Given the description of an element on the screen output the (x, y) to click on. 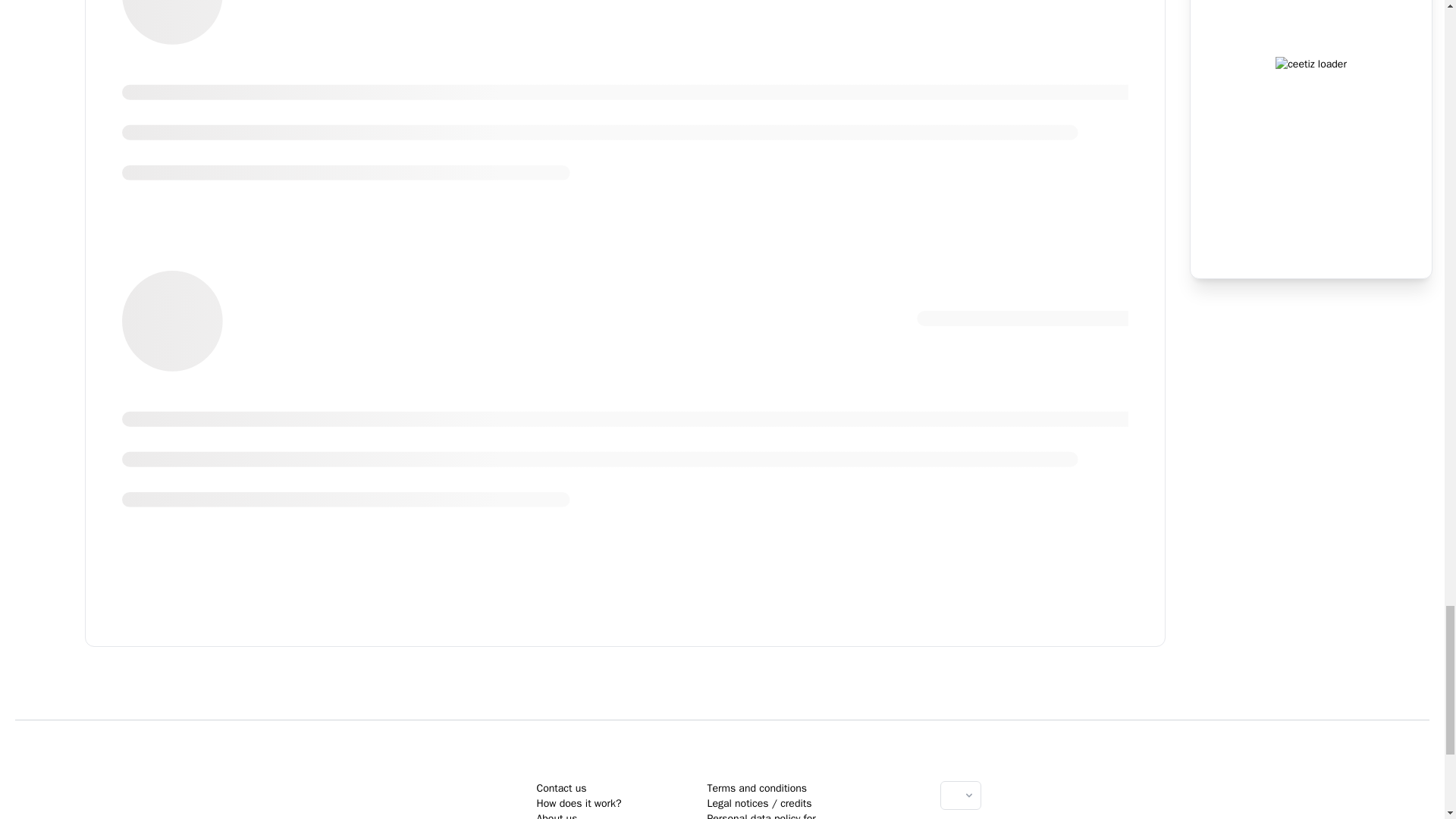
How does it work? (578, 802)
Contact us (560, 788)
About us (555, 815)
